Given the description of an element on the screen output the (x, y) to click on. 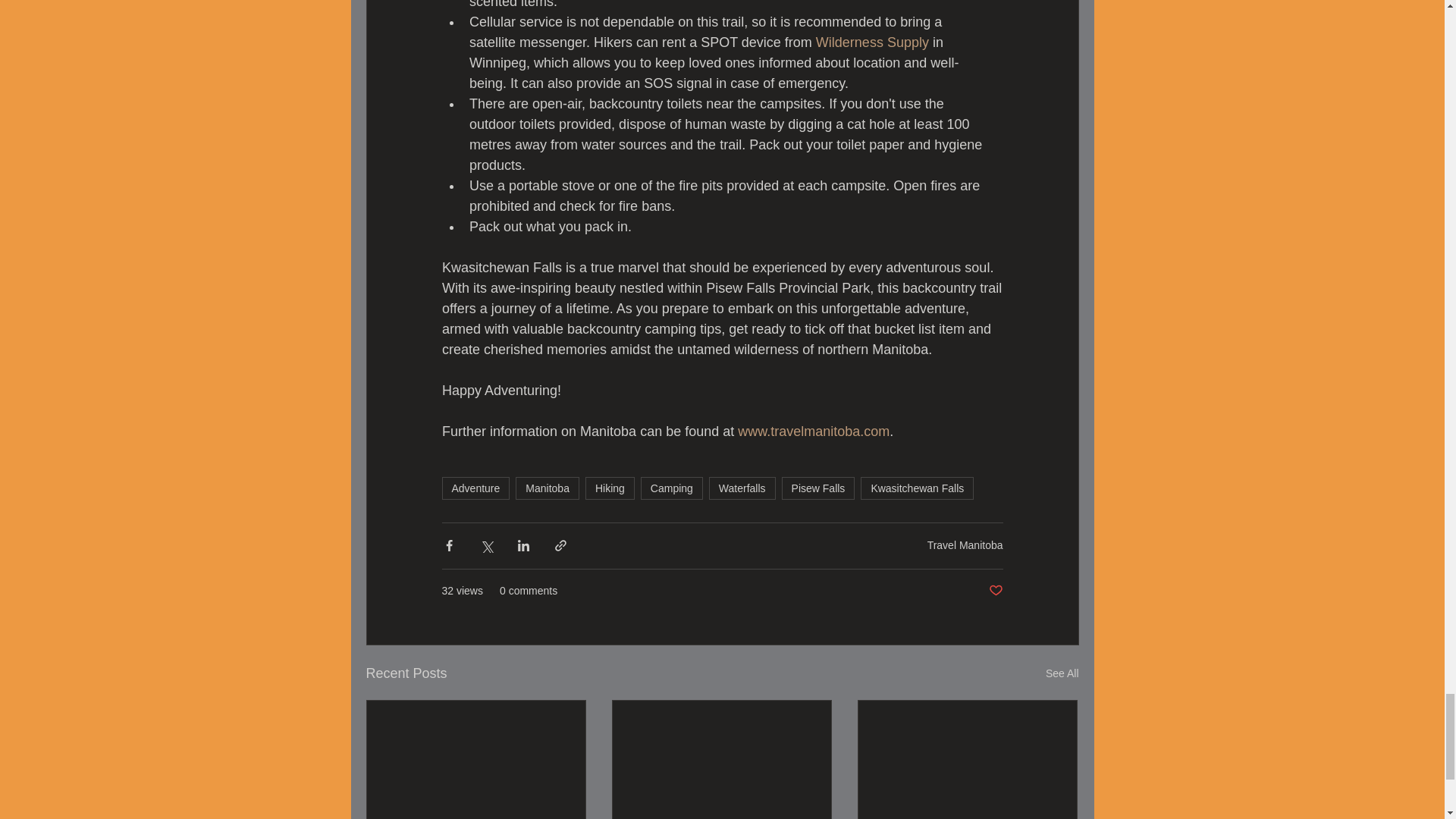
Camping (671, 487)
Kwasitchewan Falls (917, 487)
www.travelmanitoba.com (813, 431)
Adventure (475, 487)
Manitoba (547, 487)
Wilderness Supply (871, 42)
Waterfalls (742, 487)
Pisew Falls (818, 487)
Hiking (609, 487)
